Given the description of an element on the screen output the (x, y) to click on. 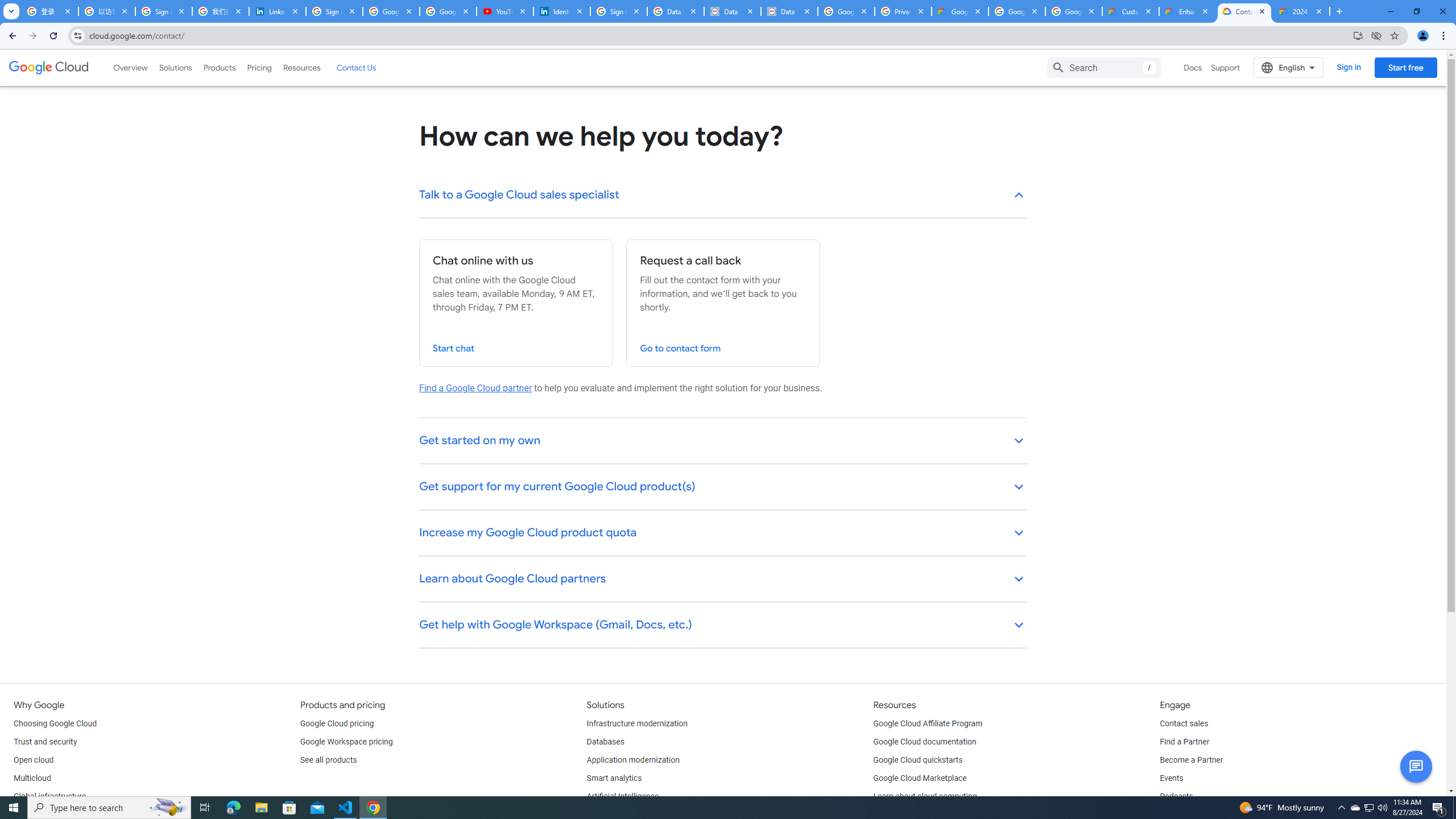
Talk to a Google Cloud sales specialist keyboard_arrow_up (723, 195)
Google Cloud pricing (336, 723)
Increase my Google Cloud product quota keyboard_arrow_down (723, 533)
Enhanced Support | Google Cloud (1187, 11)
Smart analytics (614, 778)
Find a Partner (1183, 742)
